Given the description of an element on the screen output the (x, y) to click on. 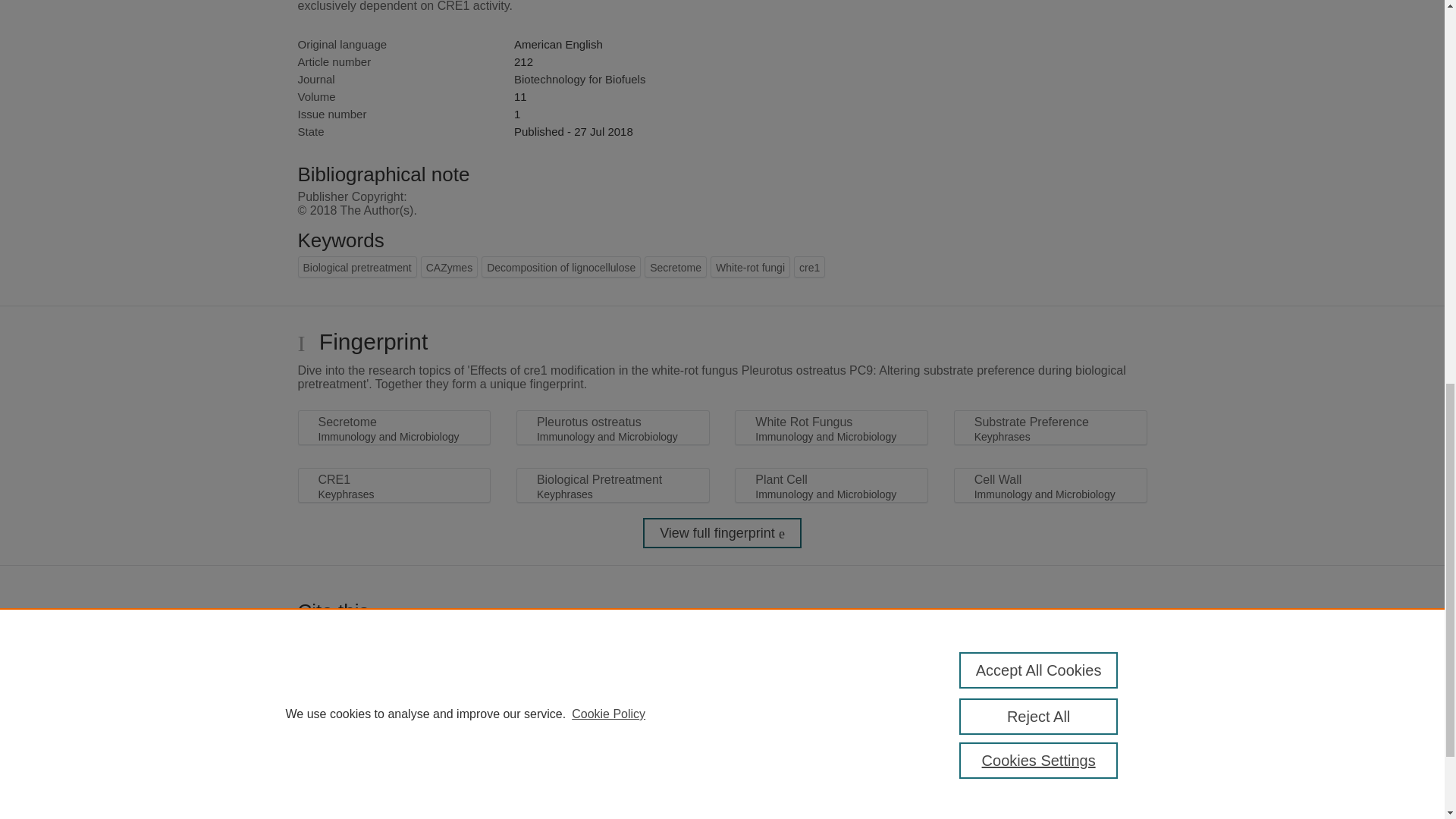
Scopus (394, 816)
Biotechnology for Biofuels (579, 78)
View full fingerprint (722, 532)
About web accessibility (1088, 816)
Pure (362, 816)
